Given the description of an element on the screen output the (x, y) to click on. 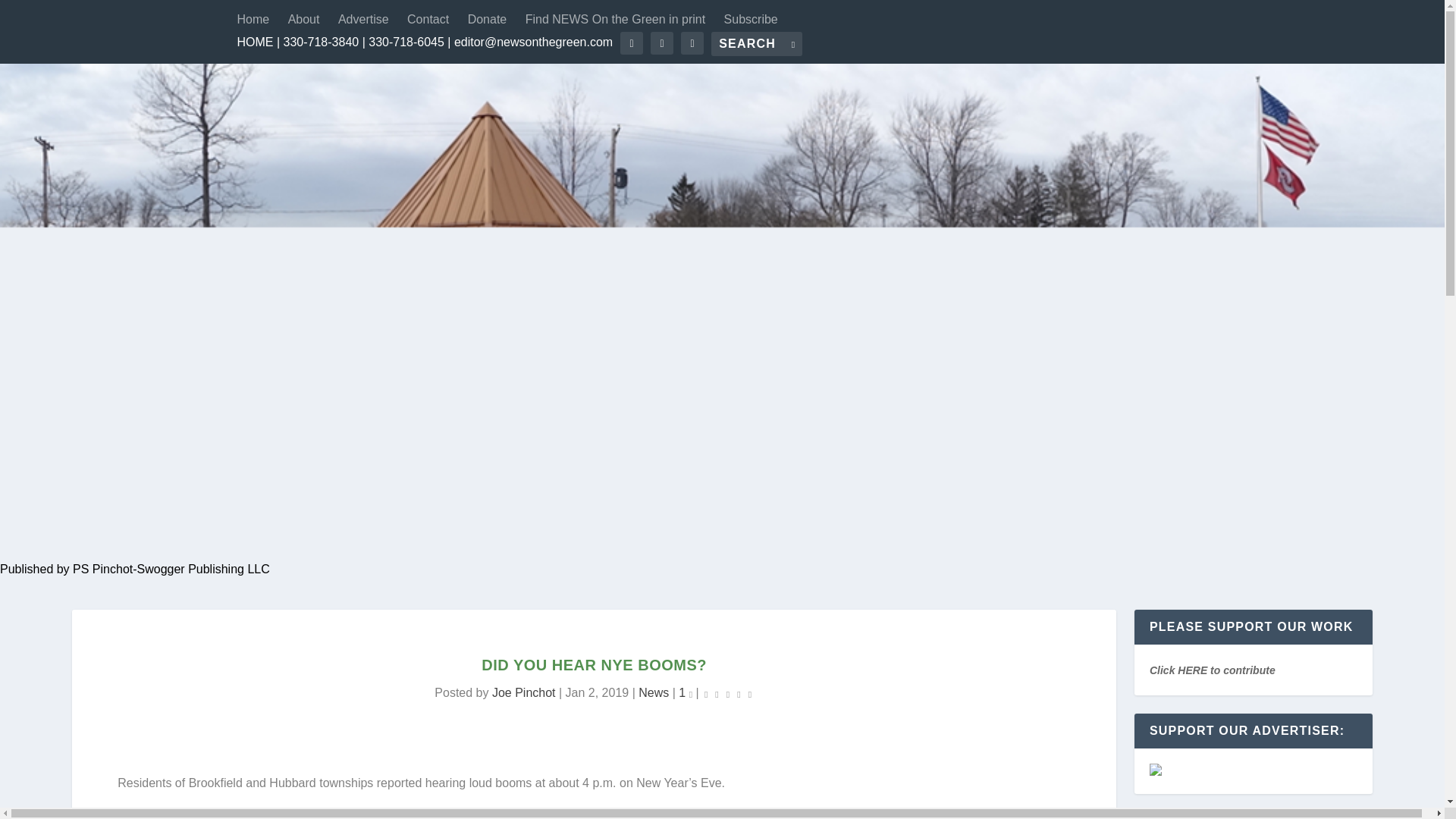
HOME (254, 42)
Find NEWS On the Green in print (614, 19)
330-718-6045 (406, 42)
Donate (486, 19)
Search for: (756, 43)
Posts by Joe Pinchot (524, 692)
Rating: 3.50 (727, 693)
Subscribe (750, 19)
330-718-3840 (321, 42)
Contact (427, 19)
